Given the description of an element on the screen output the (x, y) to click on. 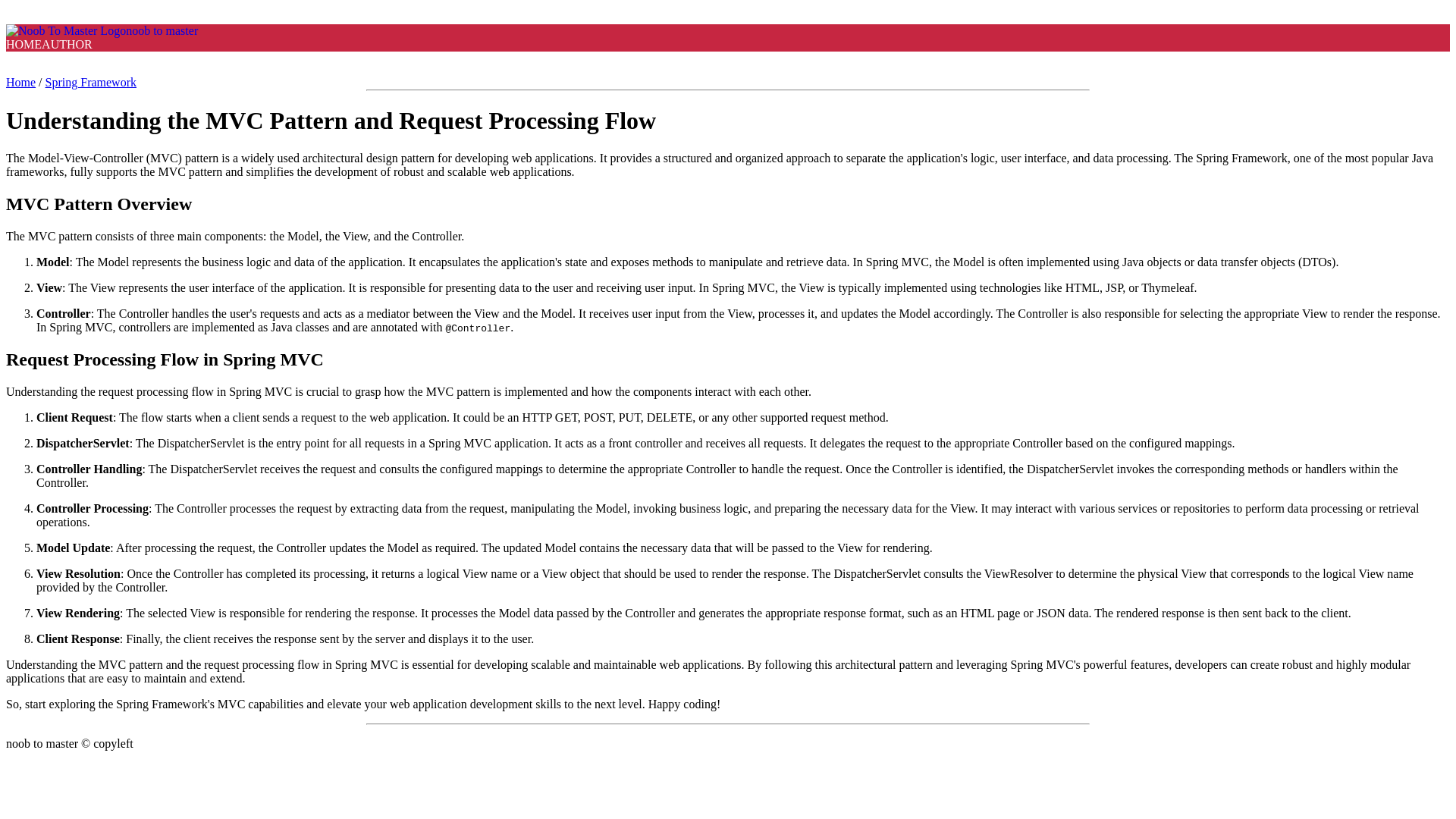
noob to master (101, 30)
AUTHOR (67, 43)
Spring Framework (90, 82)
HOME (23, 43)
Home (19, 82)
